Given the description of an element on the screen output the (x, y) to click on. 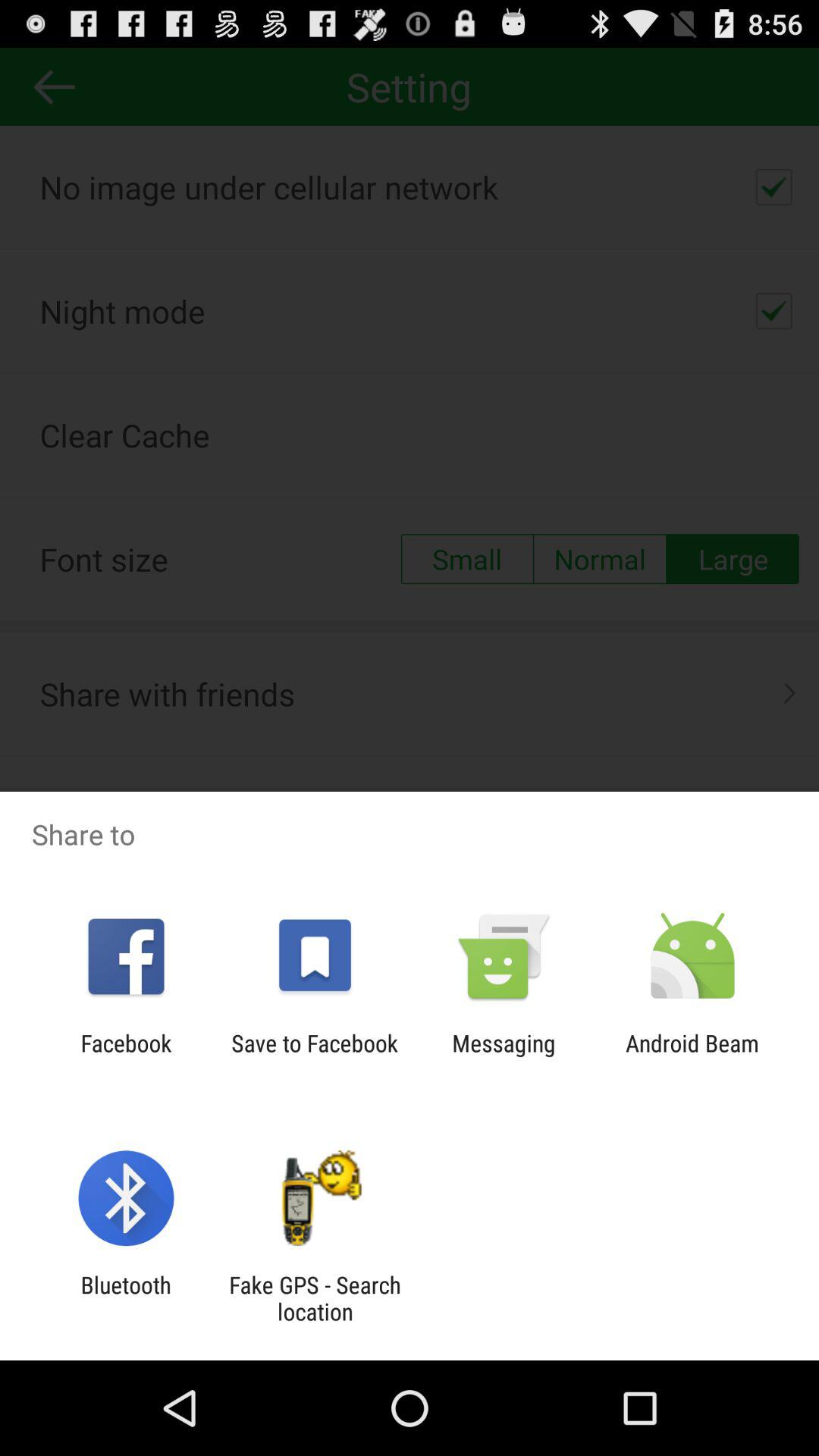
select the bluetooth item (125, 1298)
